Given the description of an element on the screen output the (x, y) to click on. 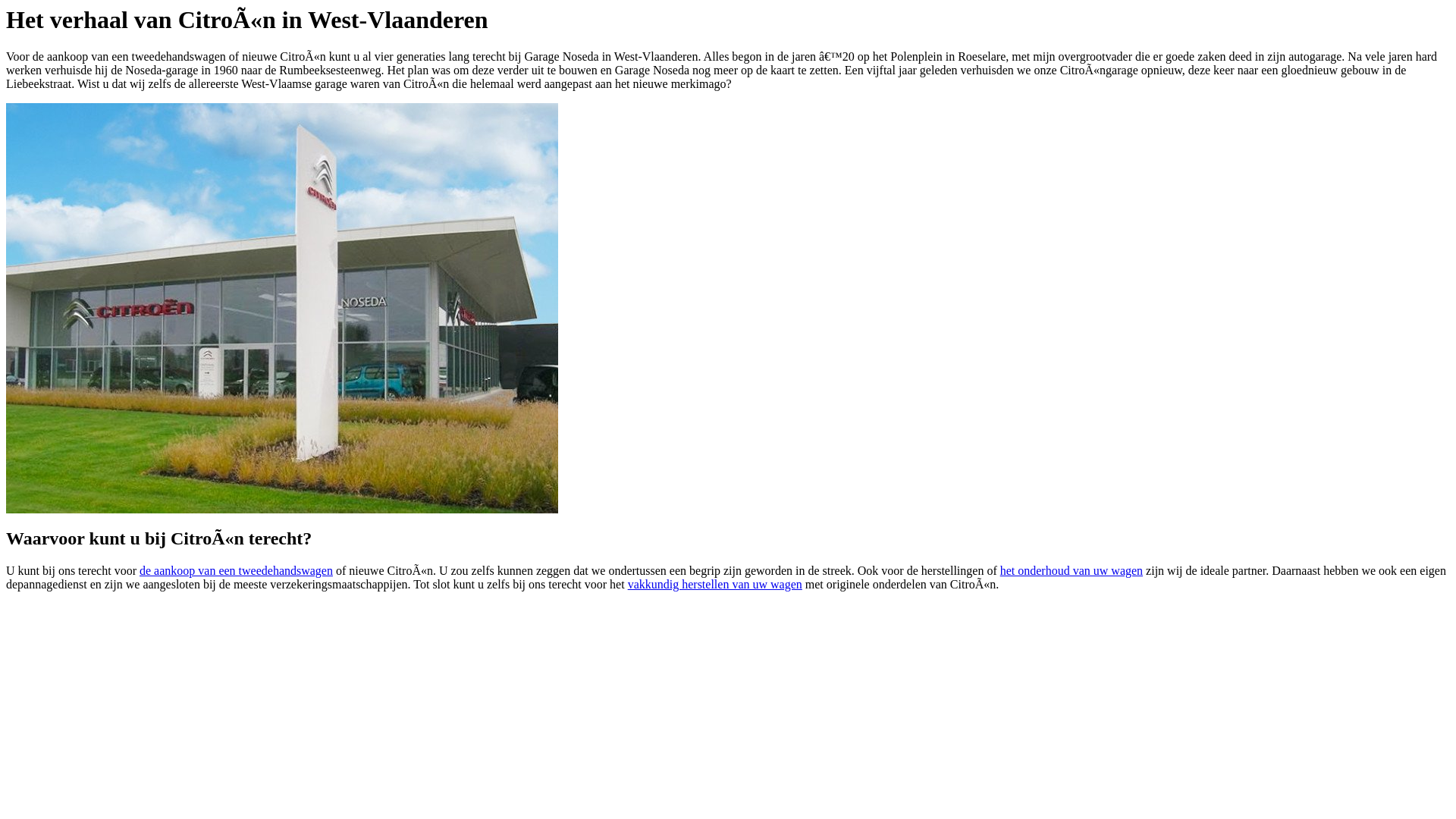
de aankoop van een tweedehandswagen Element type: text (235, 570)
vakkundig herstellen van uw wagen Element type: text (714, 583)
het onderhoud van uw wagen Element type: text (1071, 570)
